Given the description of an element on the screen output the (x, y) to click on. 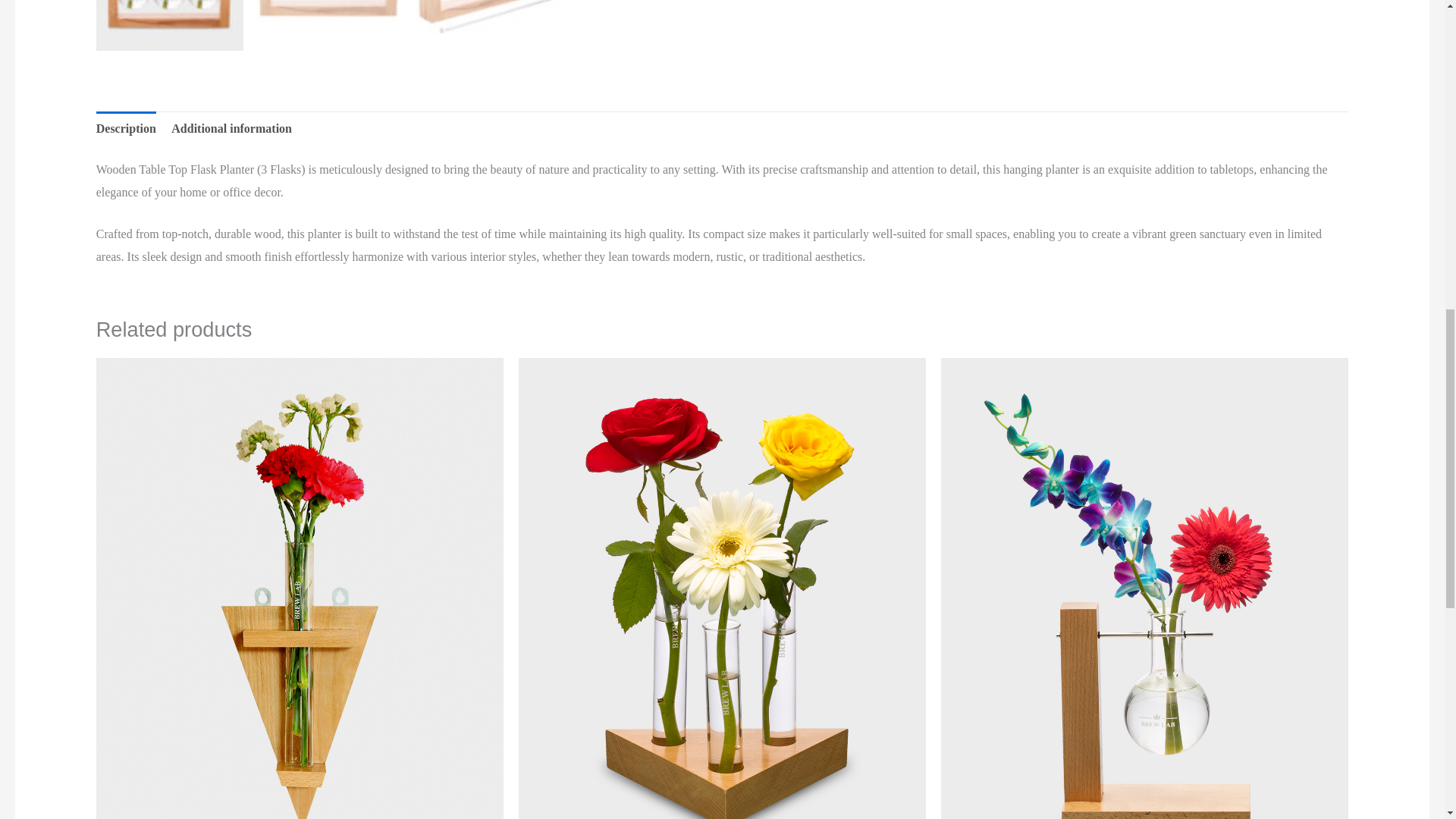
Description (125, 128)
Additional information (231, 128)
